Given the description of an element on the screen output the (x, y) to click on. 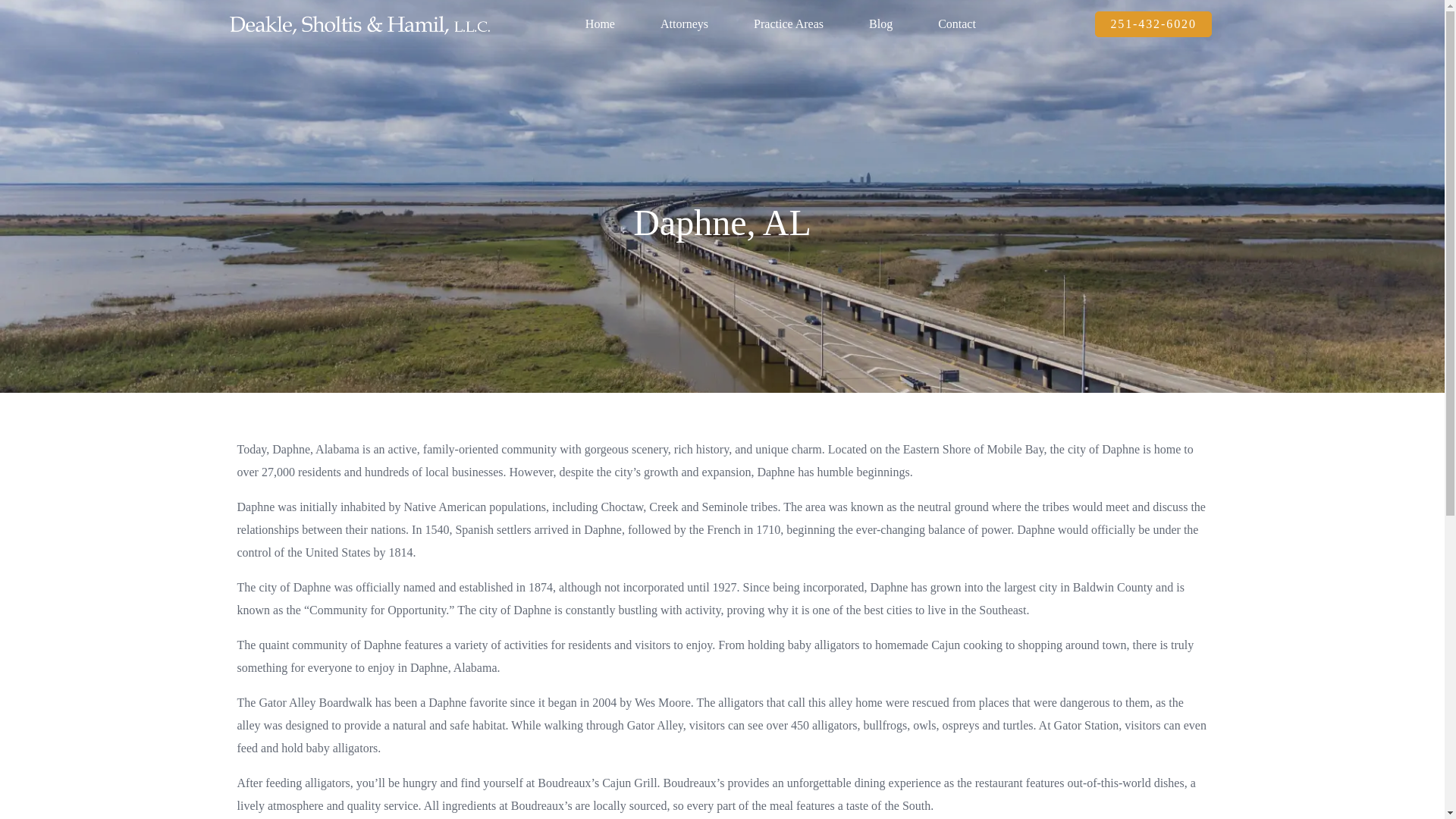
Contact (956, 24)
Blog (880, 24)
251-432-6020 (1152, 23)
Home (599, 24)
Practice Areas (789, 24)
Attorneys (684, 24)
